Given the description of an element on the screen output the (x, y) to click on. 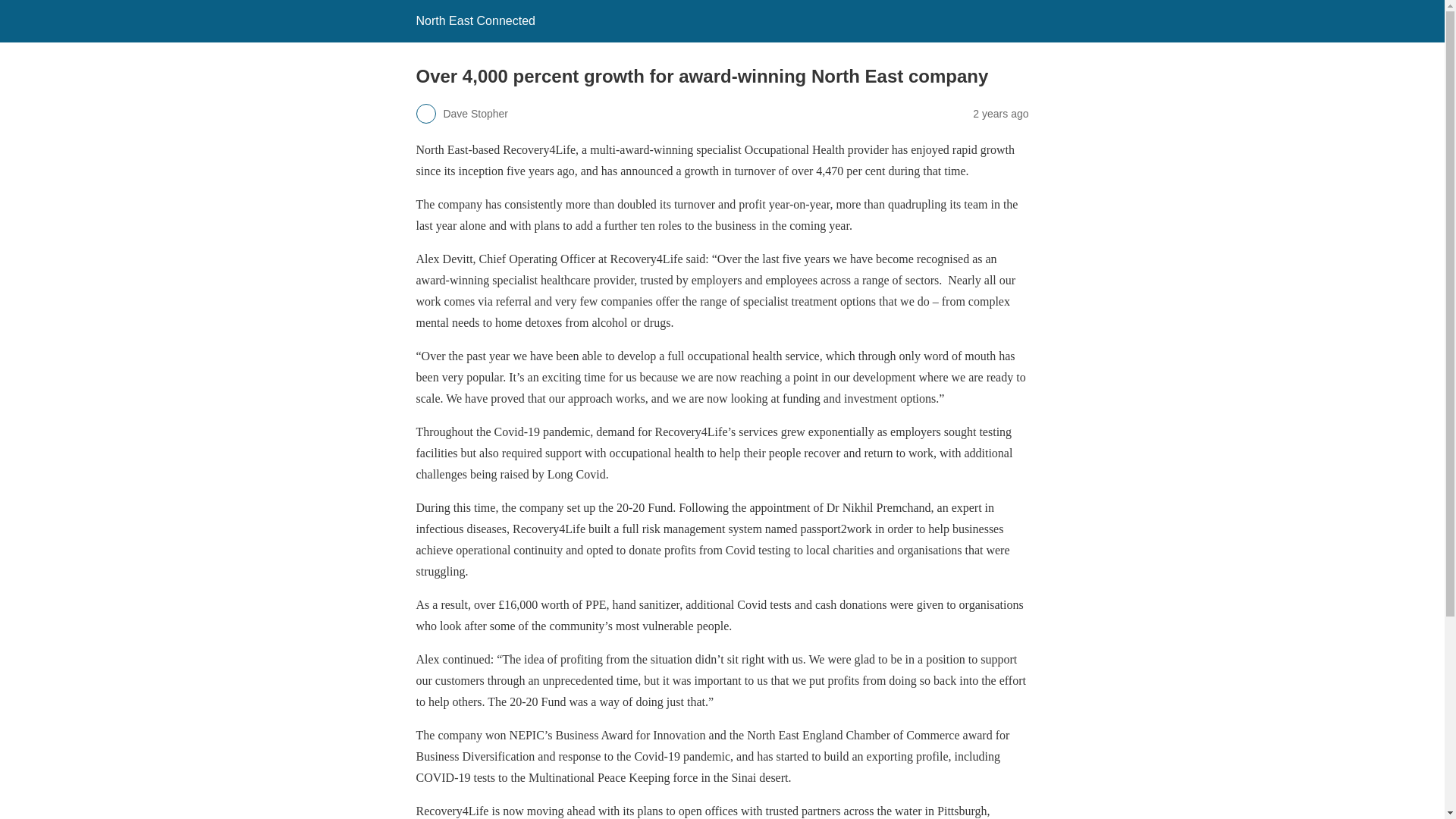
North East Connected (474, 20)
